Given the description of an element on the screen output the (x, y) to click on. 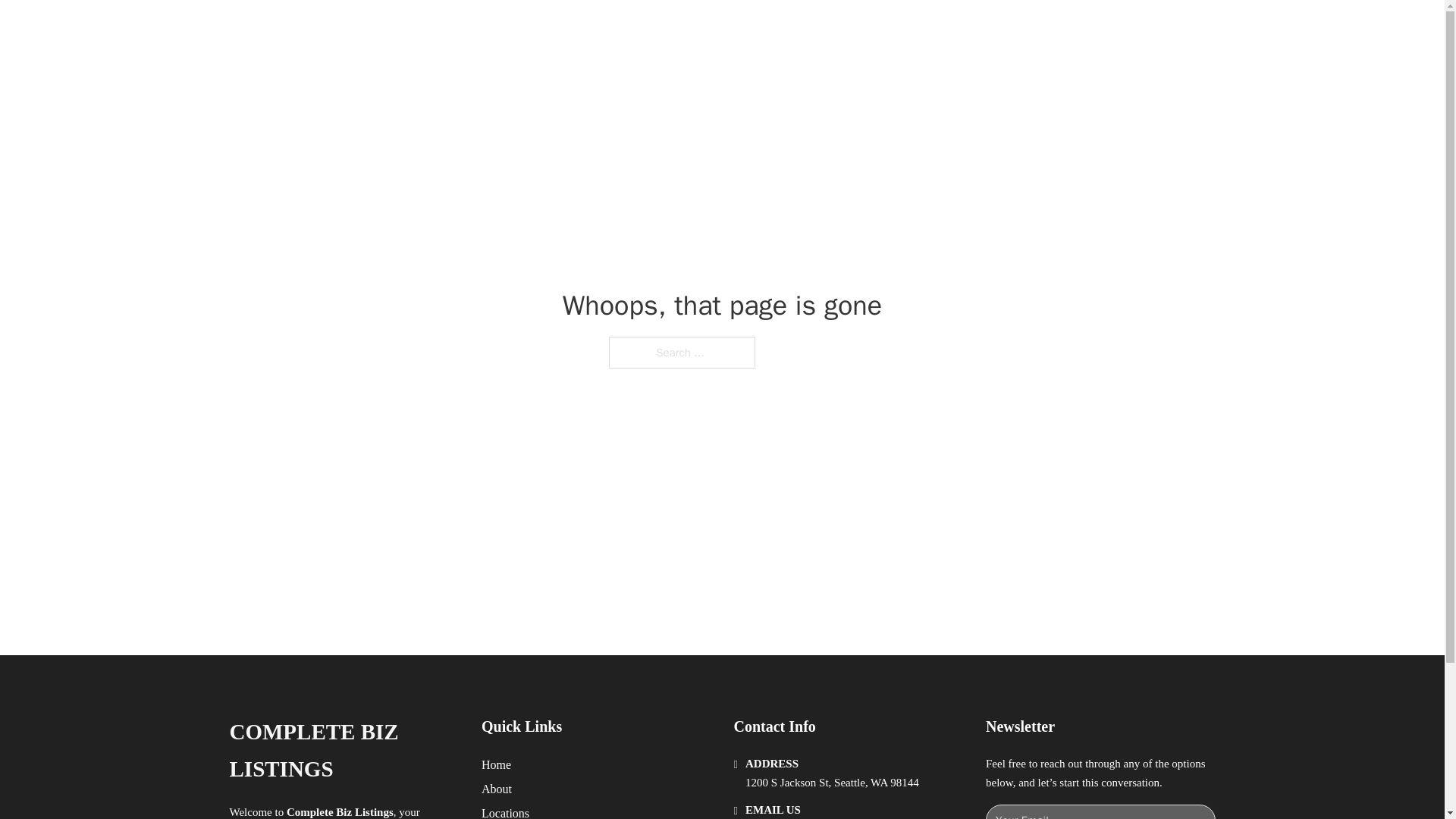
About (496, 788)
Locations (505, 811)
Home (496, 764)
HOME (907, 29)
LOCATIONS (978, 29)
COMPLETE BIZ LISTINGS (431, 28)
COMPLETE BIZ LISTINGS (343, 750)
